Given the description of an element on the screen output the (x, y) to click on. 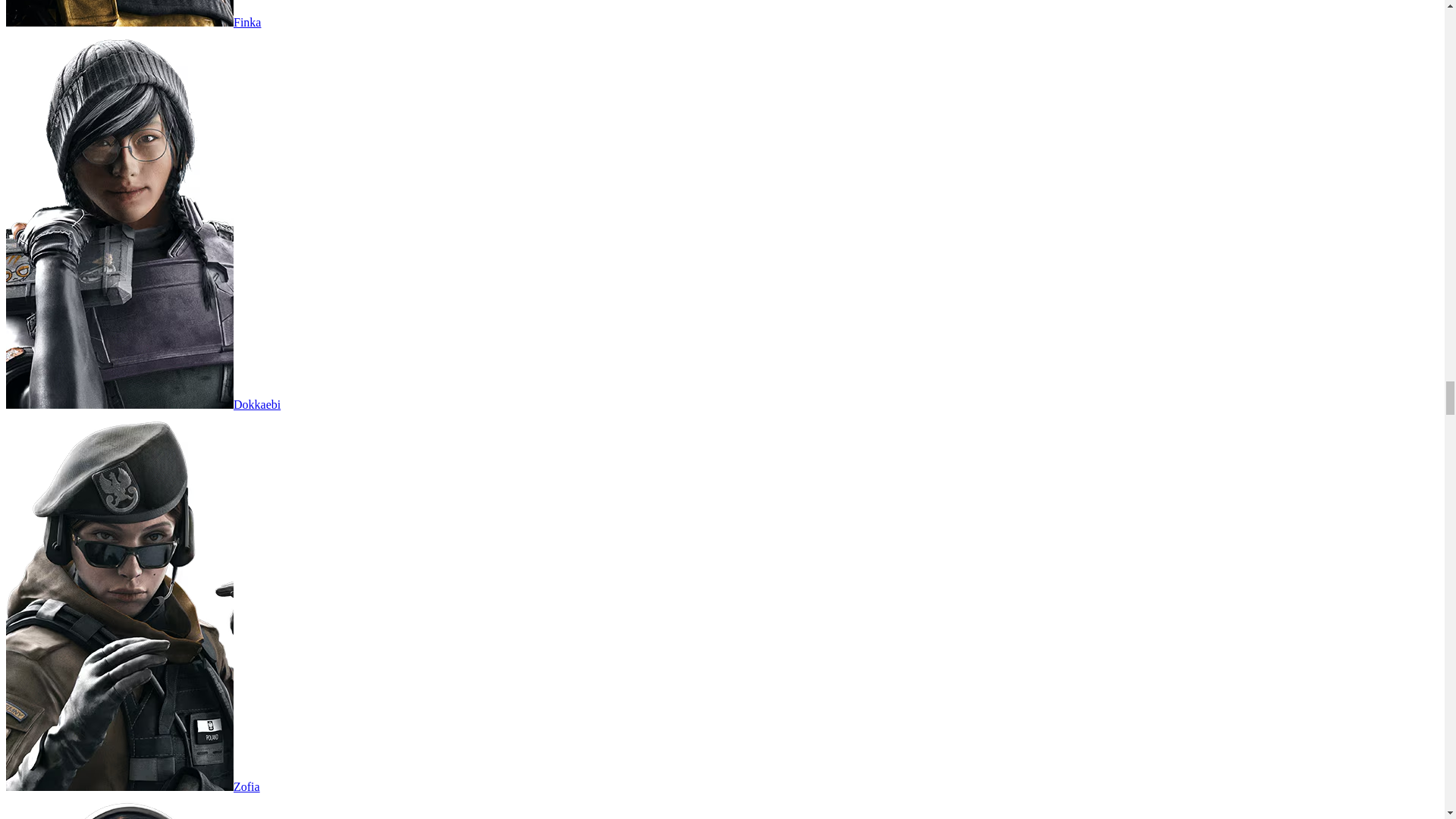
Dokkaebi (143, 404)
Zofia (132, 786)
Finka (132, 21)
